Given the description of an element on the screen output the (x, y) to click on. 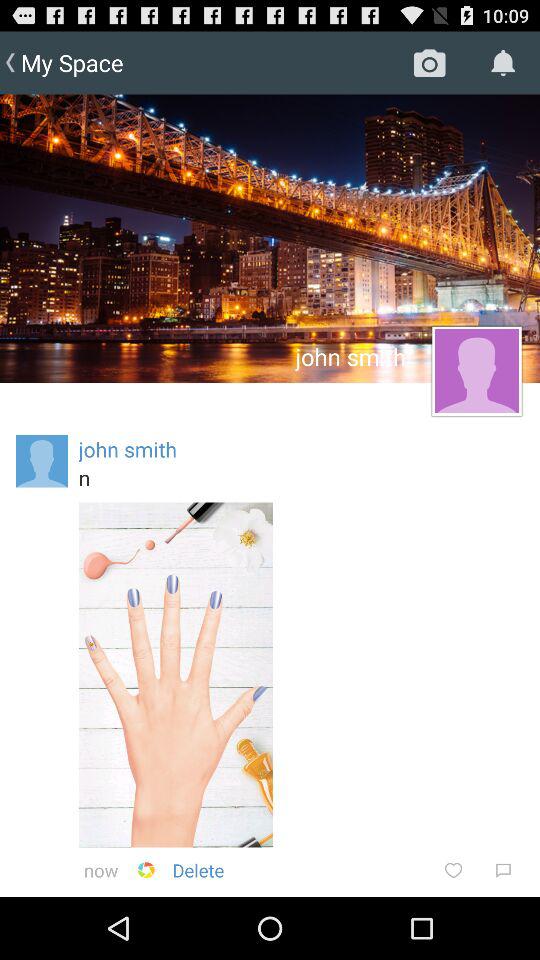
click the item next to the delete item (146, 870)
